Given the description of an element on the screen output the (x, y) to click on. 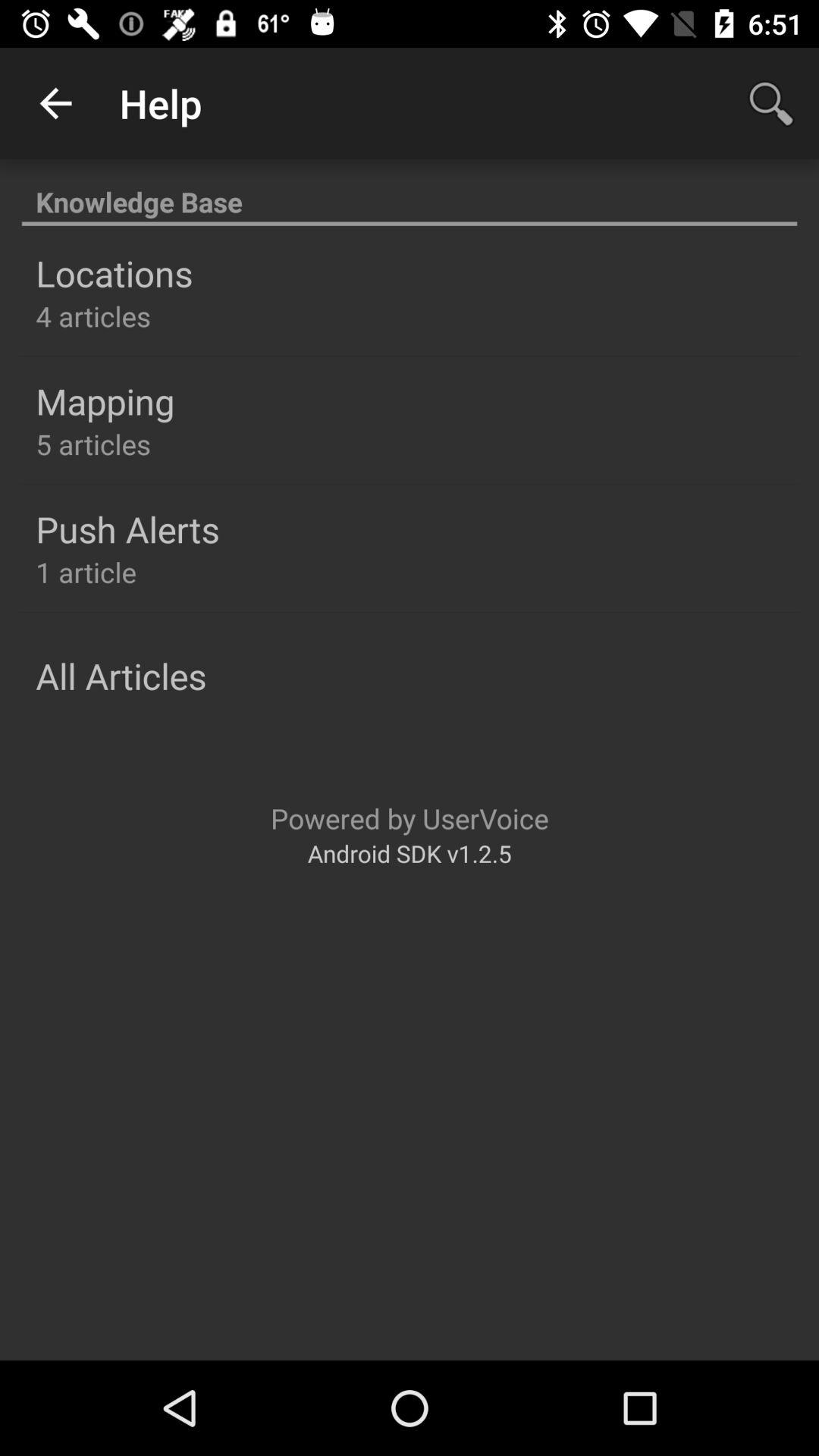
turn off app next to help icon (771, 103)
